Given the description of an element on the screen output the (x, y) to click on. 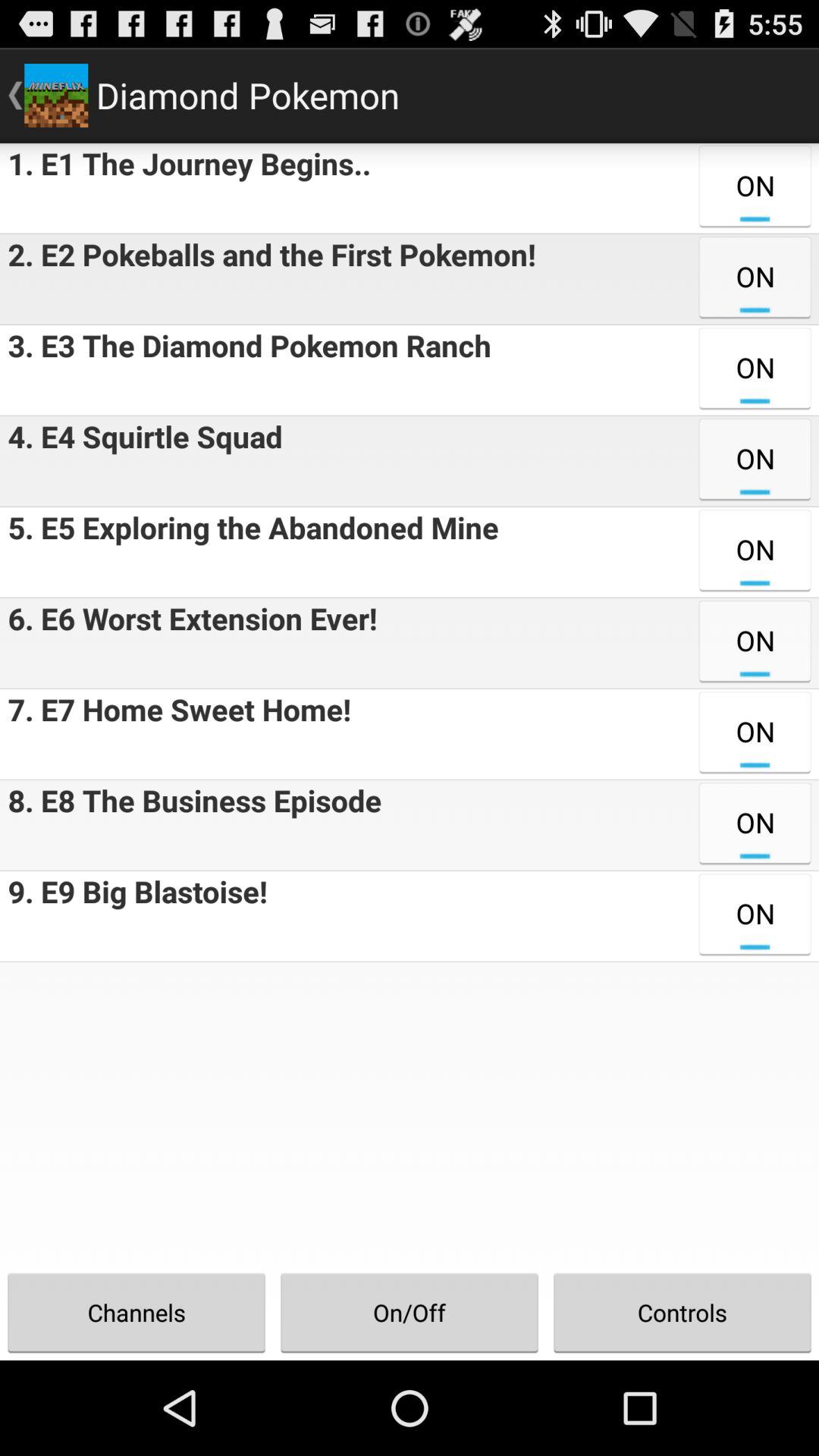
choose the item above 3 e3 the (267, 279)
